Given the description of an element on the screen output the (x, y) to click on. 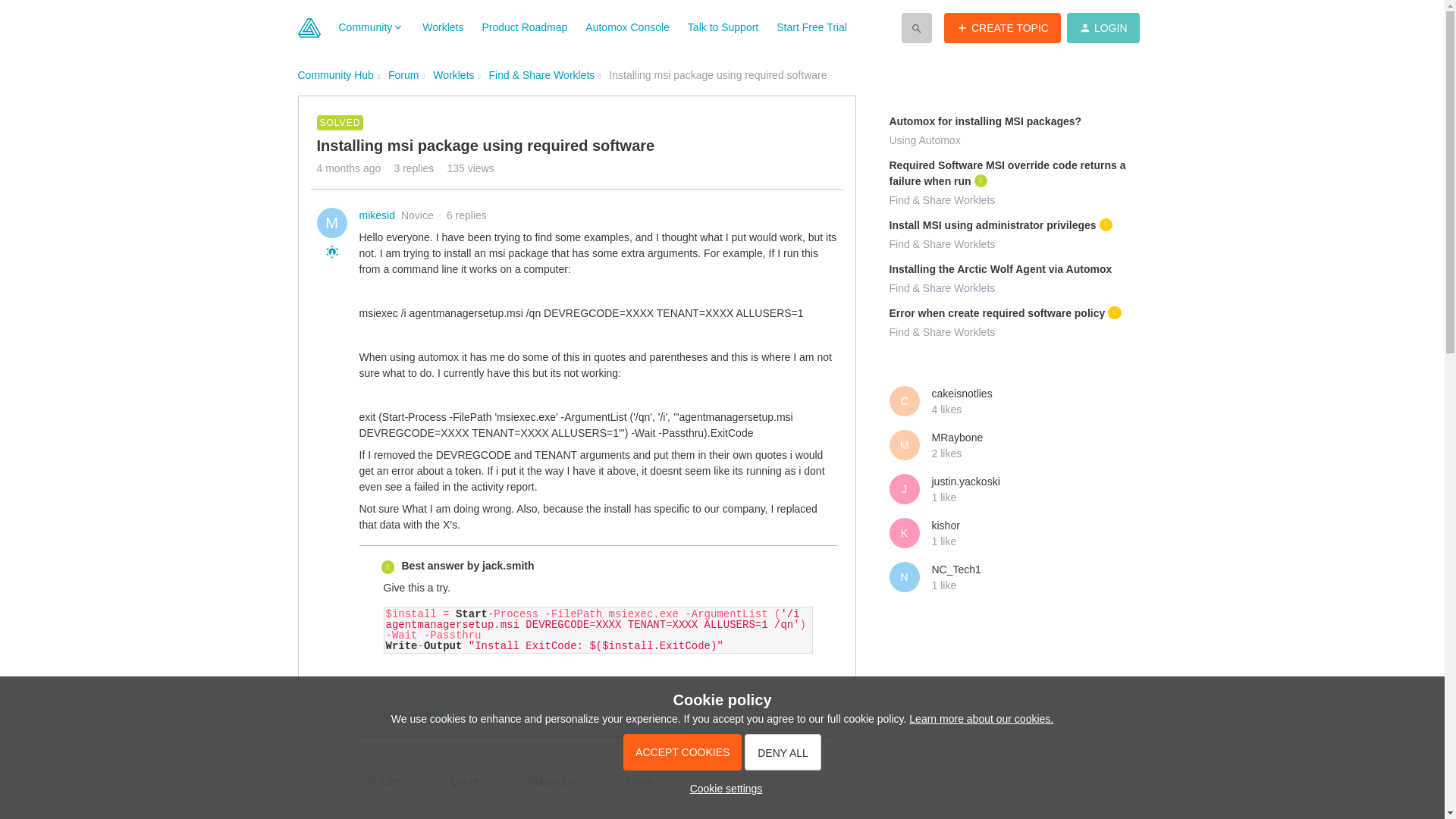
Automox Console (627, 27)
Worklets (442, 27)
Product Roadmap (524, 27)
Start Free Trial (811, 27)
CREATE TOPIC (1002, 27)
Community (370, 27)
Talk to Support (722, 27)
